Given the description of an element on the screen output the (x, y) to click on. 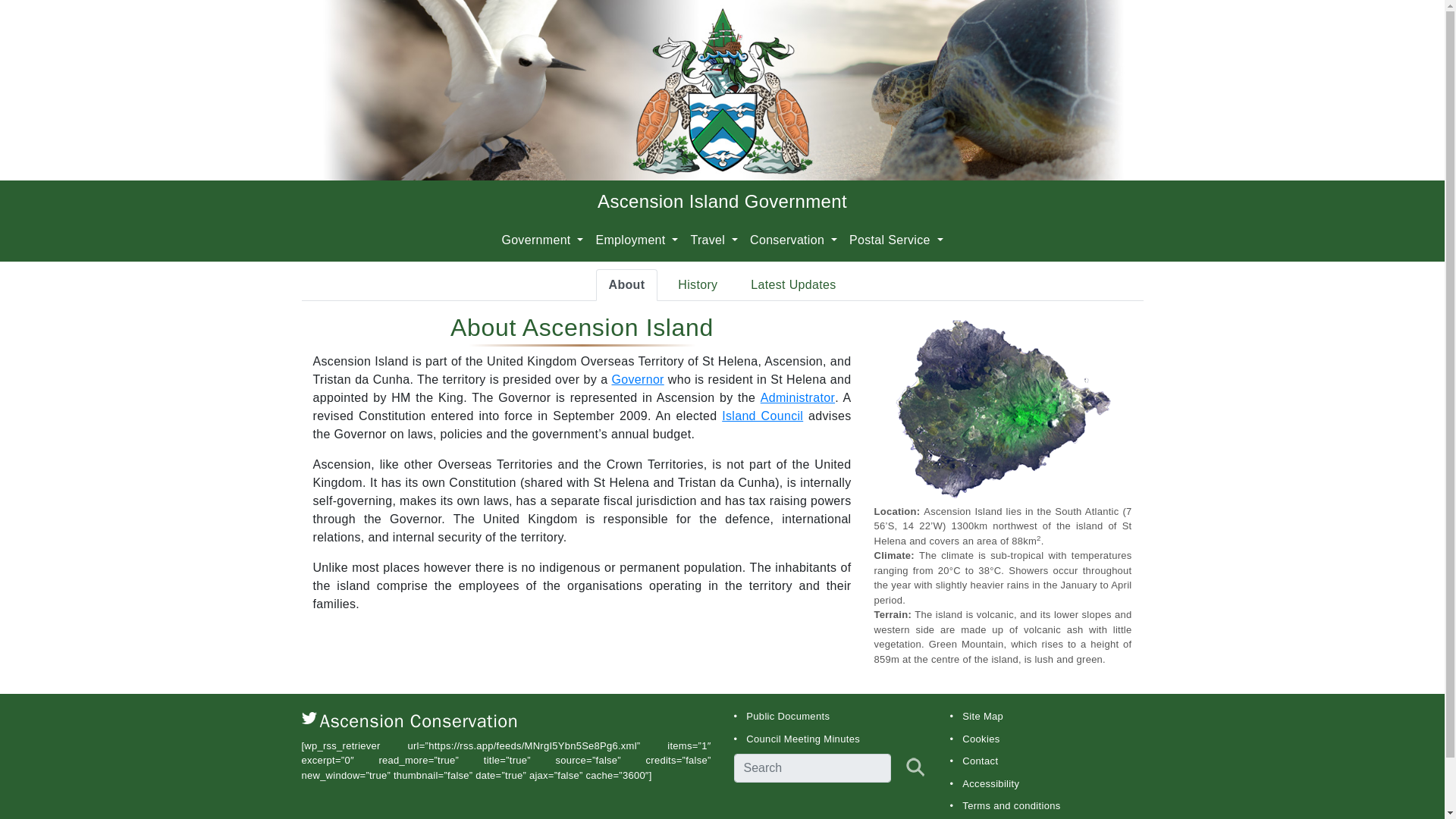
Government (542, 240)
History (697, 285)
About (626, 285)
Employment (636, 240)
Ascension Island Government (721, 200)
Administrator (797, 397)
Postal Service (896, 240)
Governor (637, 379)
Travel (714, 240)
Home (721, 200)
Island Council (762, 415)
Latest Updates (793, 285)
Conservation (793, 240)
